Given the description of an element on the screen output the (x, y) to click on. 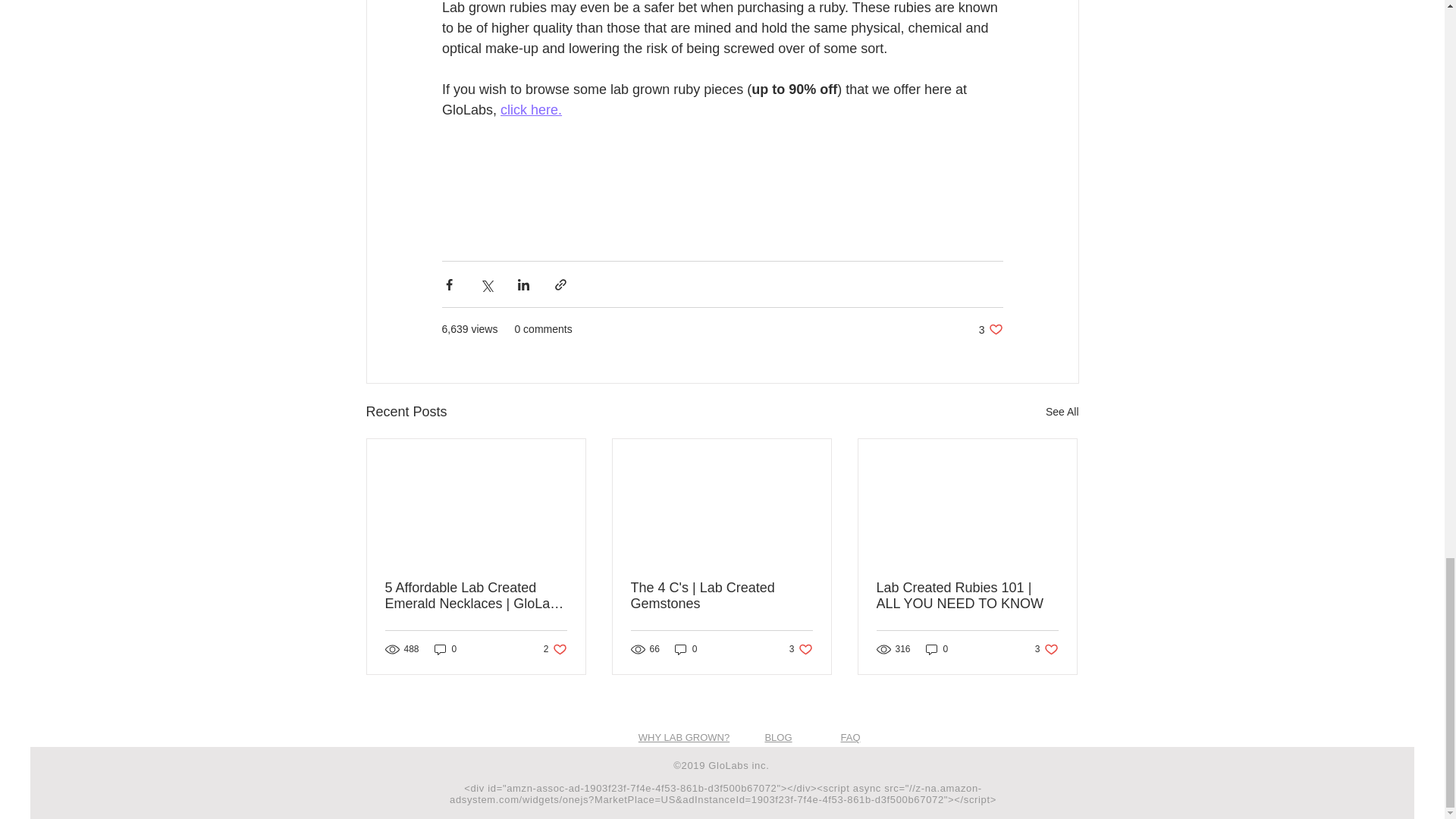
See All (1046, 649)
0 (1061, 412)
0 (990, 329)
click here. (800, 649)
0 (555, 649)
